Given the description of an element on the screen output the (x, y) to click on. 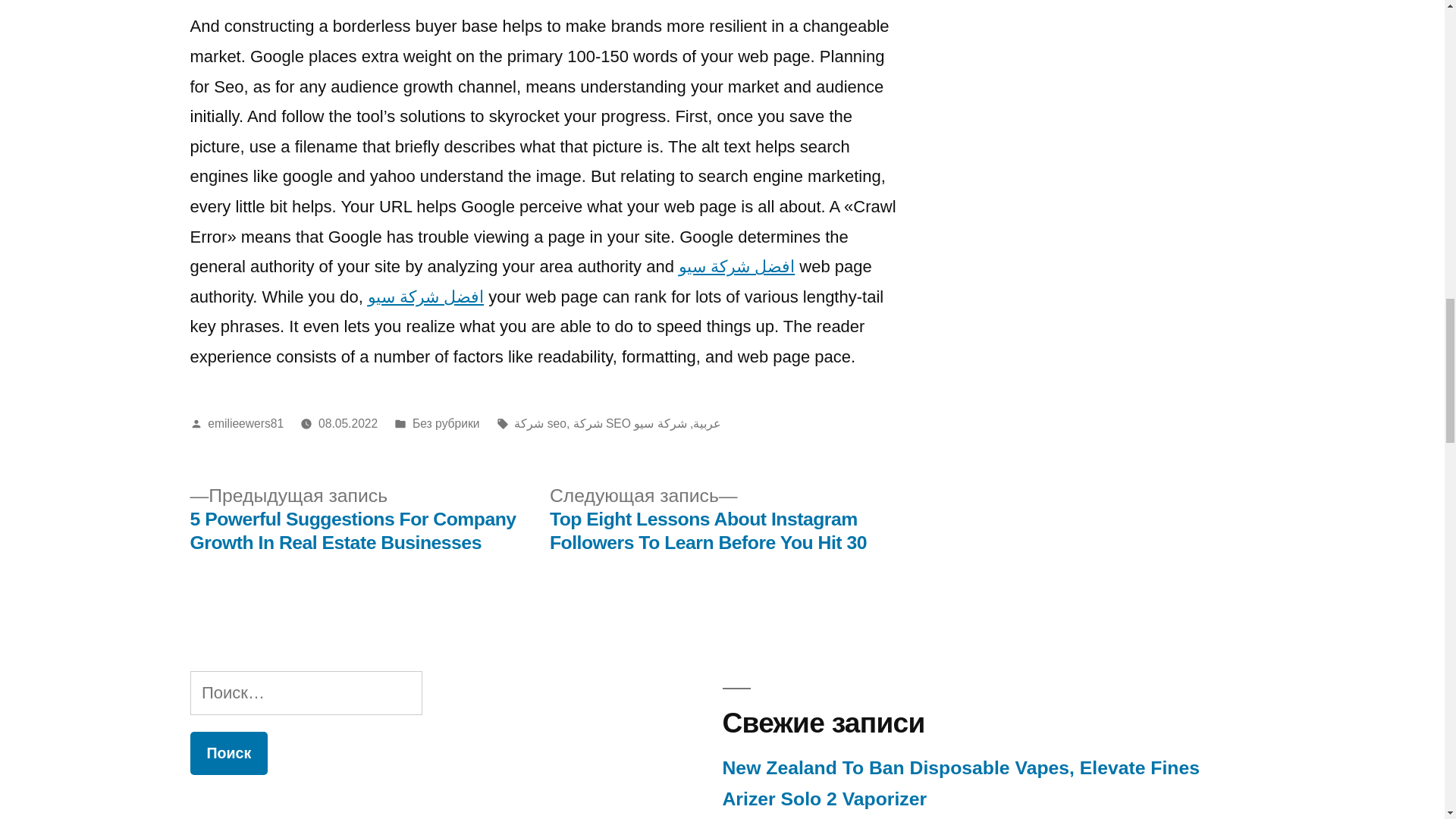
New Zealand To Ban Disposable Vapes, Elevate Fines (960, 767)
Arizer Solo 2 Vaporizer (824, 798)
08.05.2022 (347, 422)
emilieewers81 (245, 422)
